Given the description of an element on the screen output the (x, y) to click on. 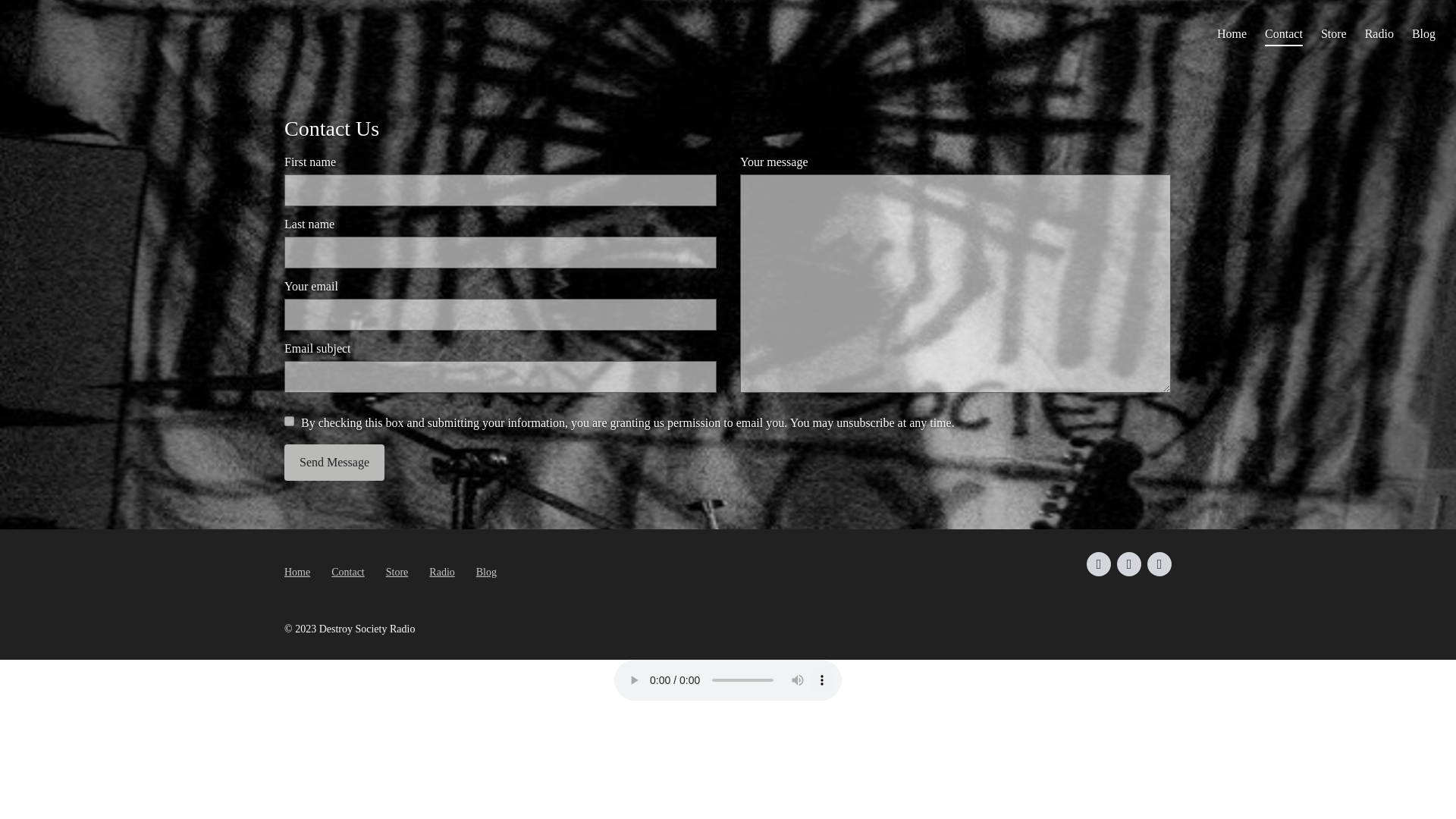
Home (1231, 33)
Home (296, 572)
Store (397, 572)
Send Message (333, 462)
Blog (486, 572)
Contact (1284, 33)
Contact (348, 572)
false (288, 420)
Store (1333, 33)
Blog (1423, 33)
